Given the description of an element on the screen output the (x, y) to click on. 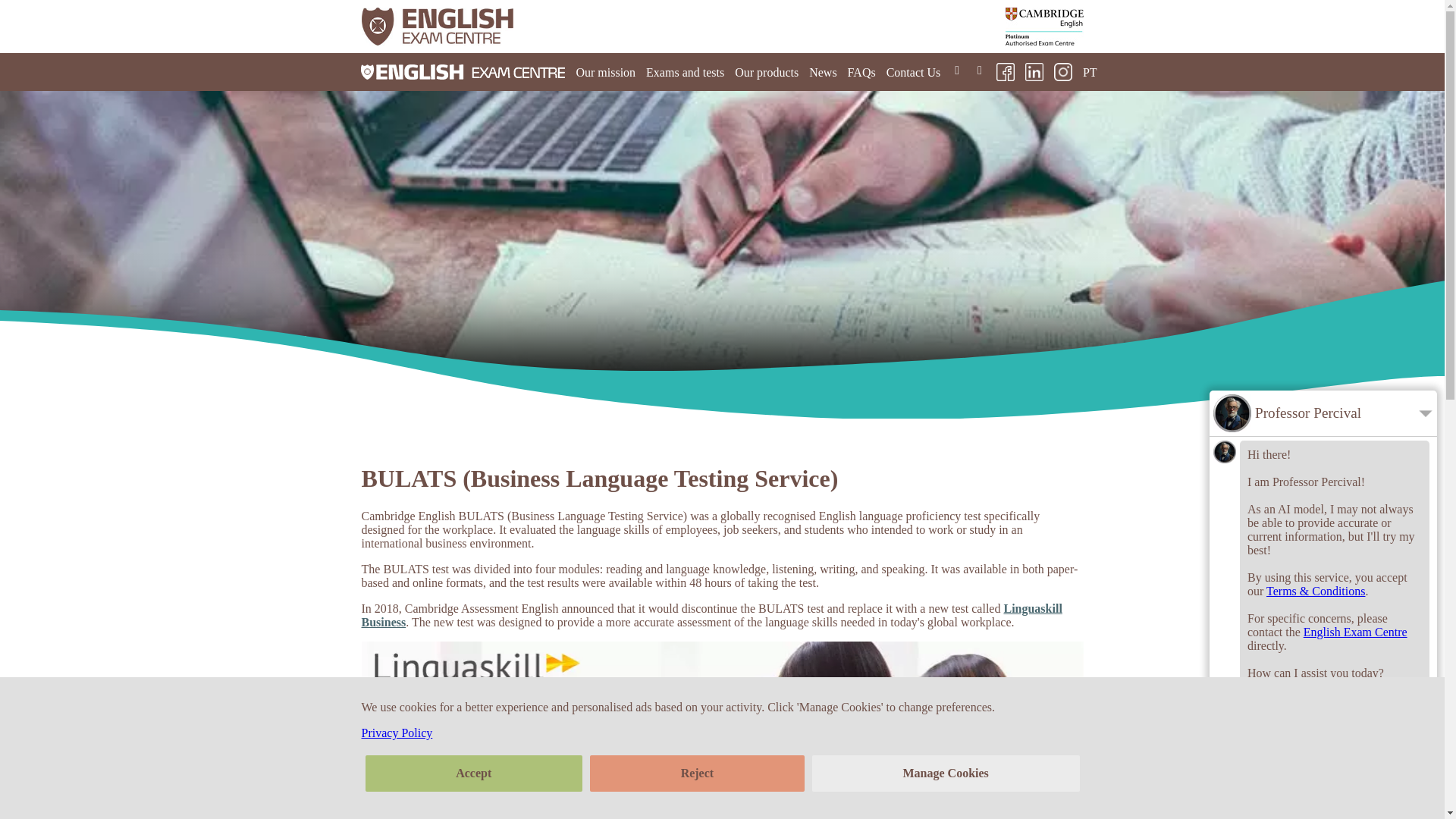
Linguaskill Business (711, 614)
Contact Us (913, 71)
Our products (766, 71)
Our mission (604, 71)
Exams and tests (684, 71)
